Given the description of an element on the screen output the (x, y) to click on. 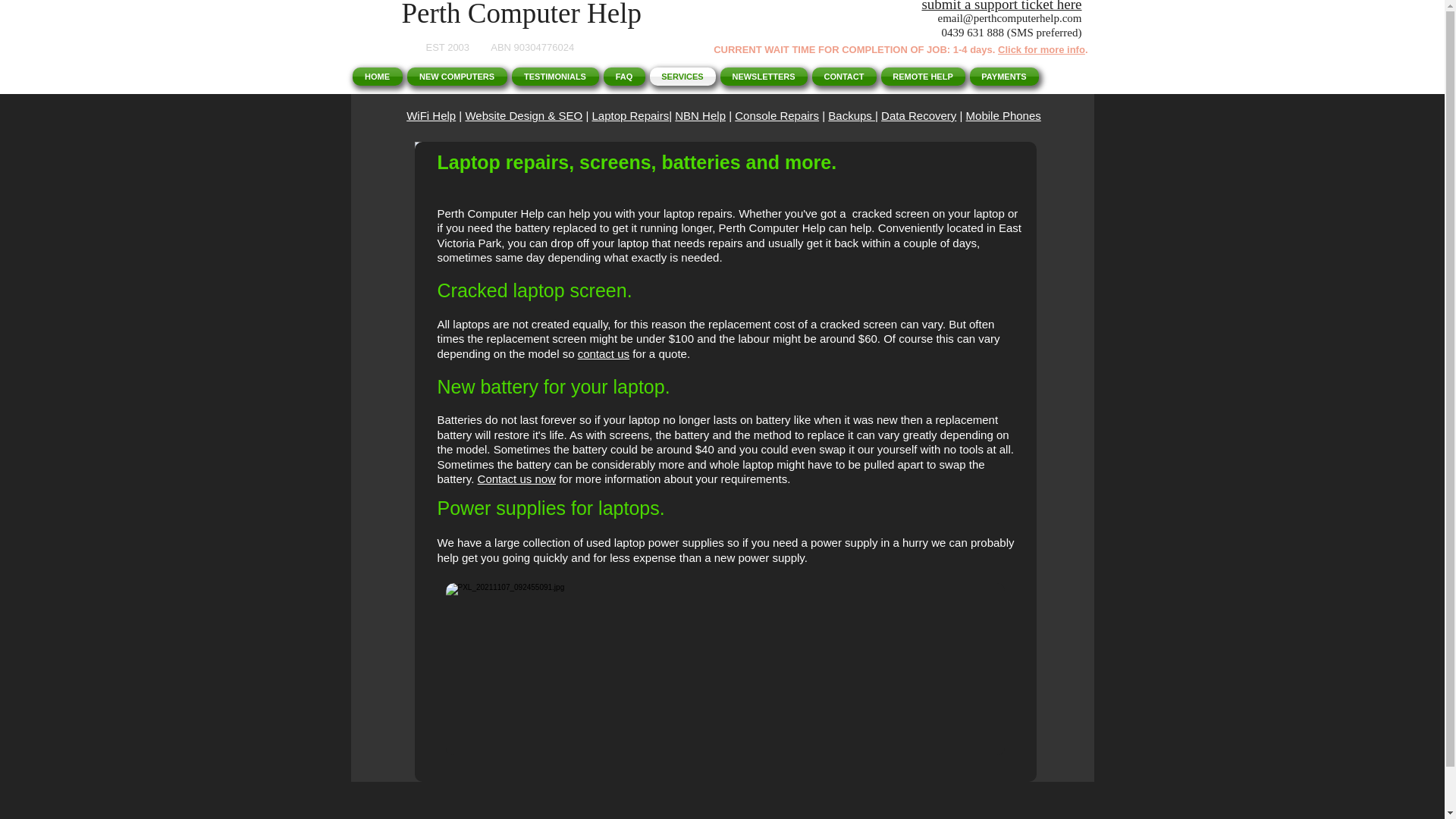
submit a support ticket here (1001, 6)
PAYMENTS (1003, 76)
Click for more info (1040, 49)
REMOTE HELP (921, 76)
CONTACT (844, 76)
TESTIMONIALS (555, 76)
FAQ (622, 76)
NEWSLETTERS (763, 76)
NEW COMPUTERS (456, 76)
SERVICES (682, 76)
HOME (378, 76)
